Given the description of an element on the screen output the (x, y) to click on. 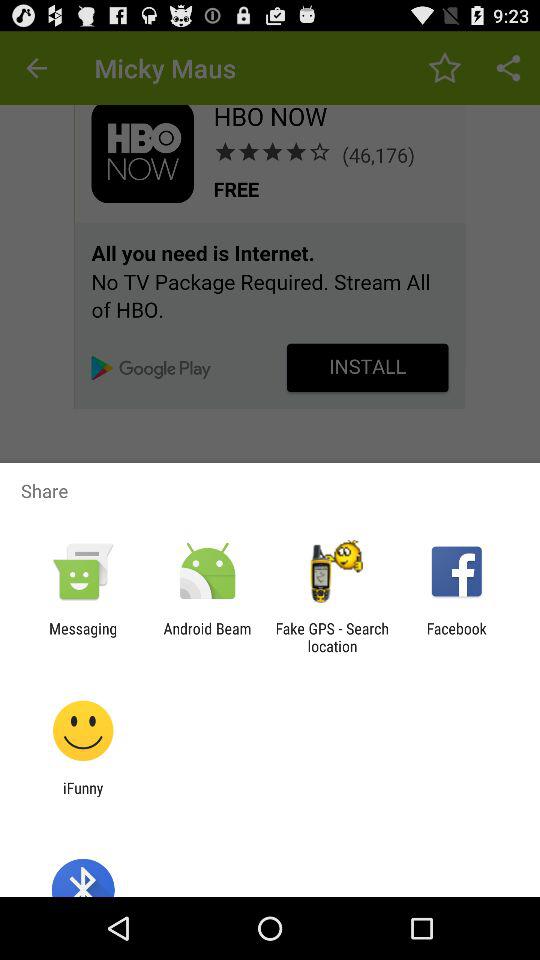
press icon next to the facebook icon (332, 637)
